Given the description of an element on the screen output the (x, y) to click on. 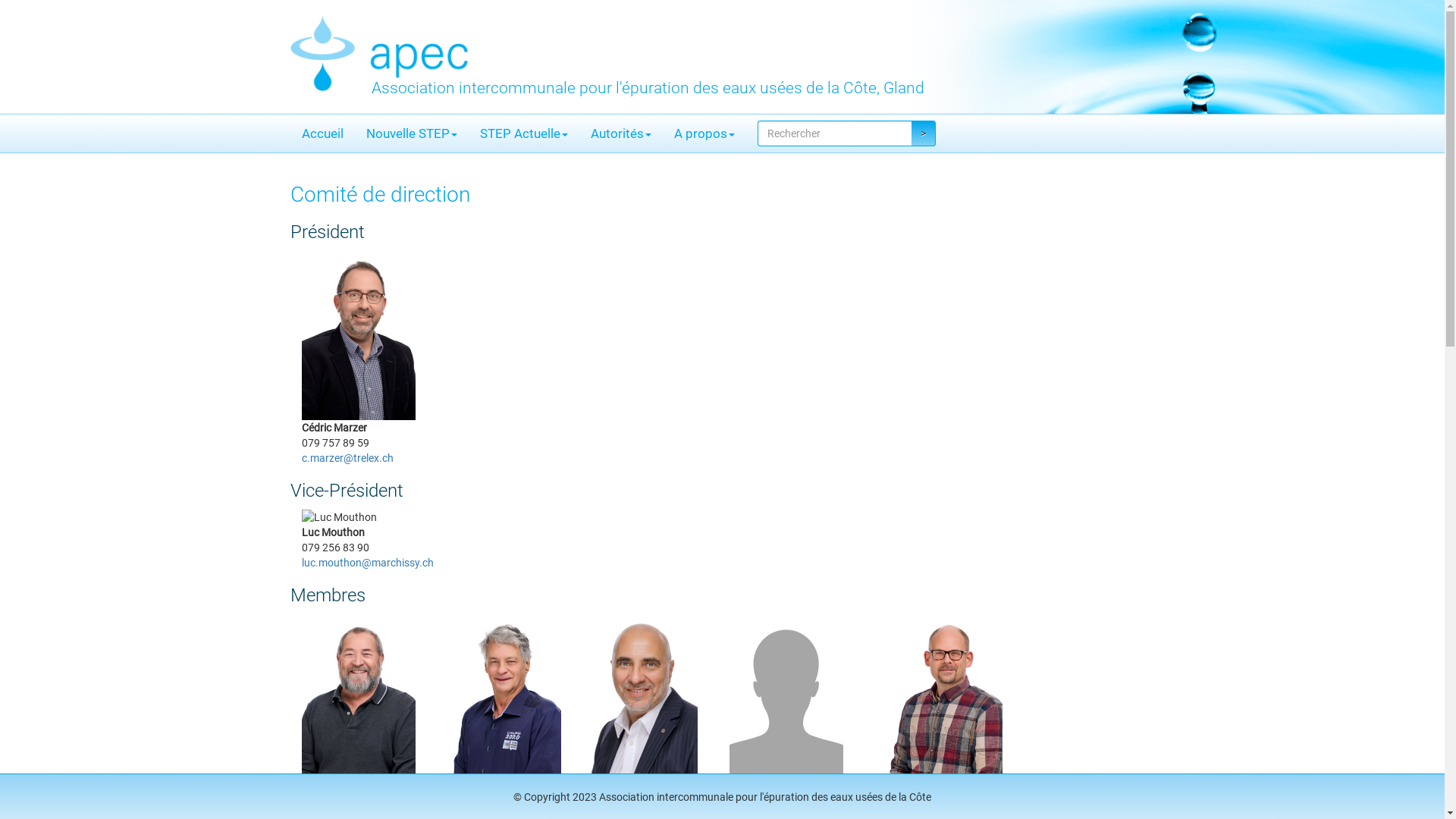
c.marzer@trelex.ch Element type: text (347, 457)
STEP Actuelle Element type: text (523, 133)
A propos Element type: text (704, 133)
luc.mouthon@marchissy.ch Element type: text (367, 562)
> Element type: text (923, 133)
Nouvelle STEP Element type: text (411, 133)
Accueil Element type: text (321, 133)
